Given the description of an element on the screen output the (x, y) to click on. 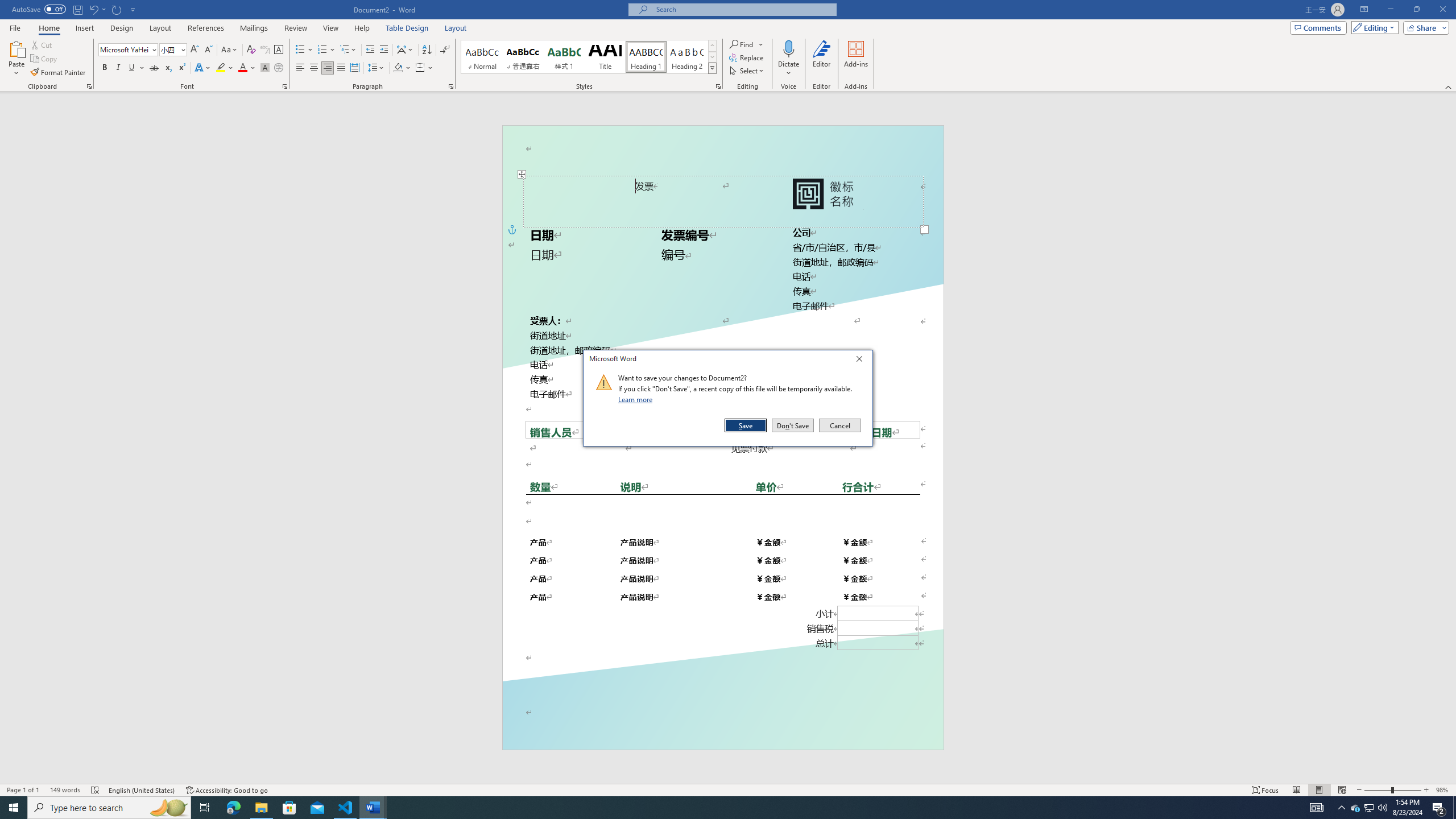
First Page Footer -Section 1- (722, 723)
